Given the description of an element on the screen output the (x, y) to click on. 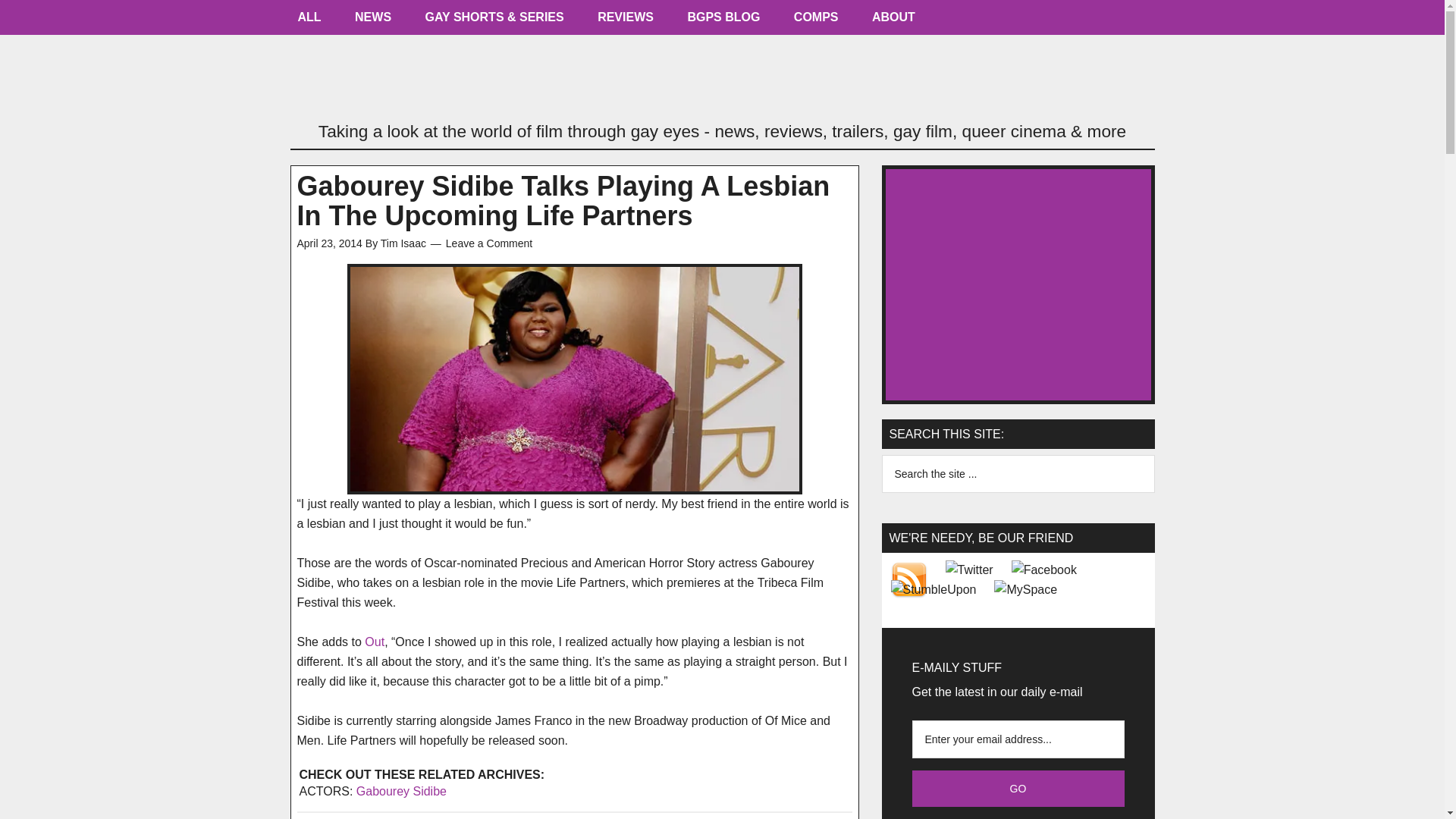
everything-bgps (309, 21)
NEWS (372, 21)
news (372, 21)
Leave a Comment (488, 243)
REVIEWS (625, 21)
Tim Isaac (403, 243)
Gabourey Sidibe (401, 790)
Out (374, 641)
ALL (309, 21)
COMPS (815, 21)
BGPS BLOG (722, 21)
Big Gay Picture Show (721, 79)
Go (1017, 788)
